Given the description of an element on the screen output the (x, y) to click on. 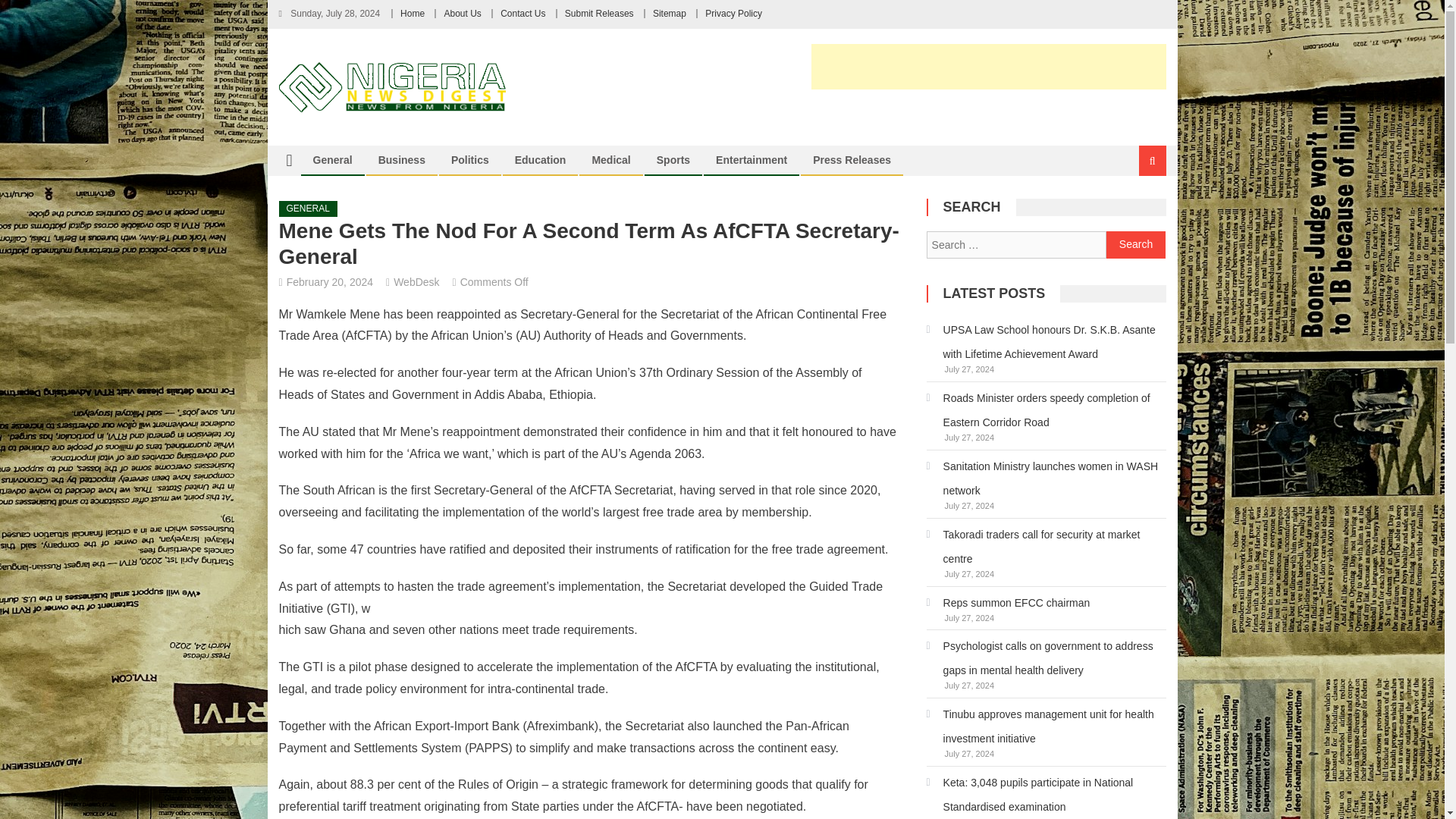
Home (412, 13)
Contact Us (522, 13)
Sitemap (668, 13)
GENERAL (308, 208)
Search (1133, 211)
Search (1136, 244)
Privacy Policy (732, 13)
Search (1136, 244)
Sports (673, 159)
Entertainment (750, 159)
Business (401, 159)
General (332, 159)
Education (540, 159)
February 20, 2024 (329, 282)
Press Releases (852, 159)
